Given the description of an element on the screen output the (x, y) to click on. 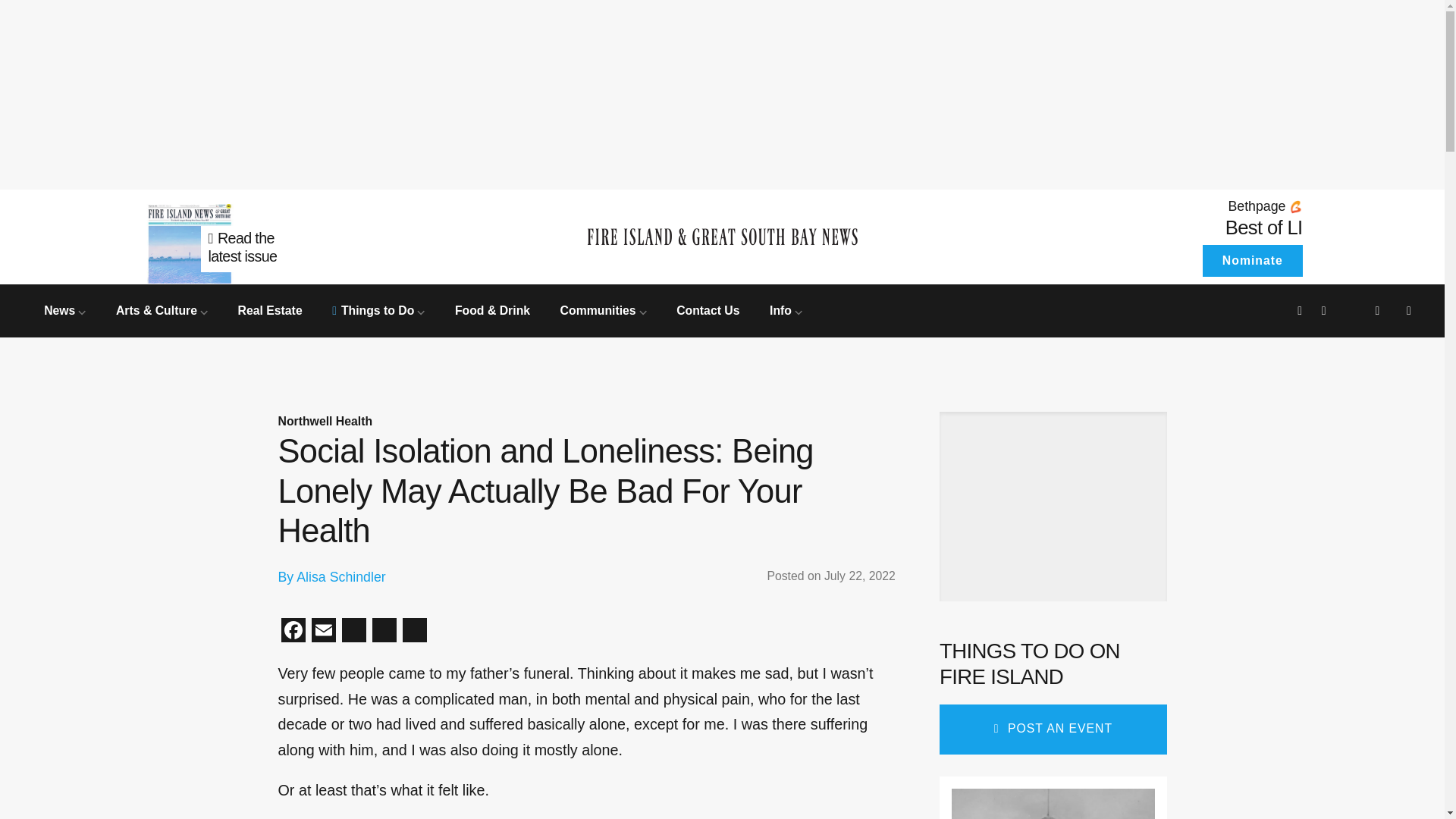
Reddit (352, 632)
Best of LI (1264, 227)
Things to Do (378, 309)
Facebook (292, 632)
Info (786, 309)
Communities (603, 309)
News (64, 309)
Nominate (1251, 260)
Email (322, 632)
X (383, 632)
